Given the description of an element on the screen output the (x, y) to click on. 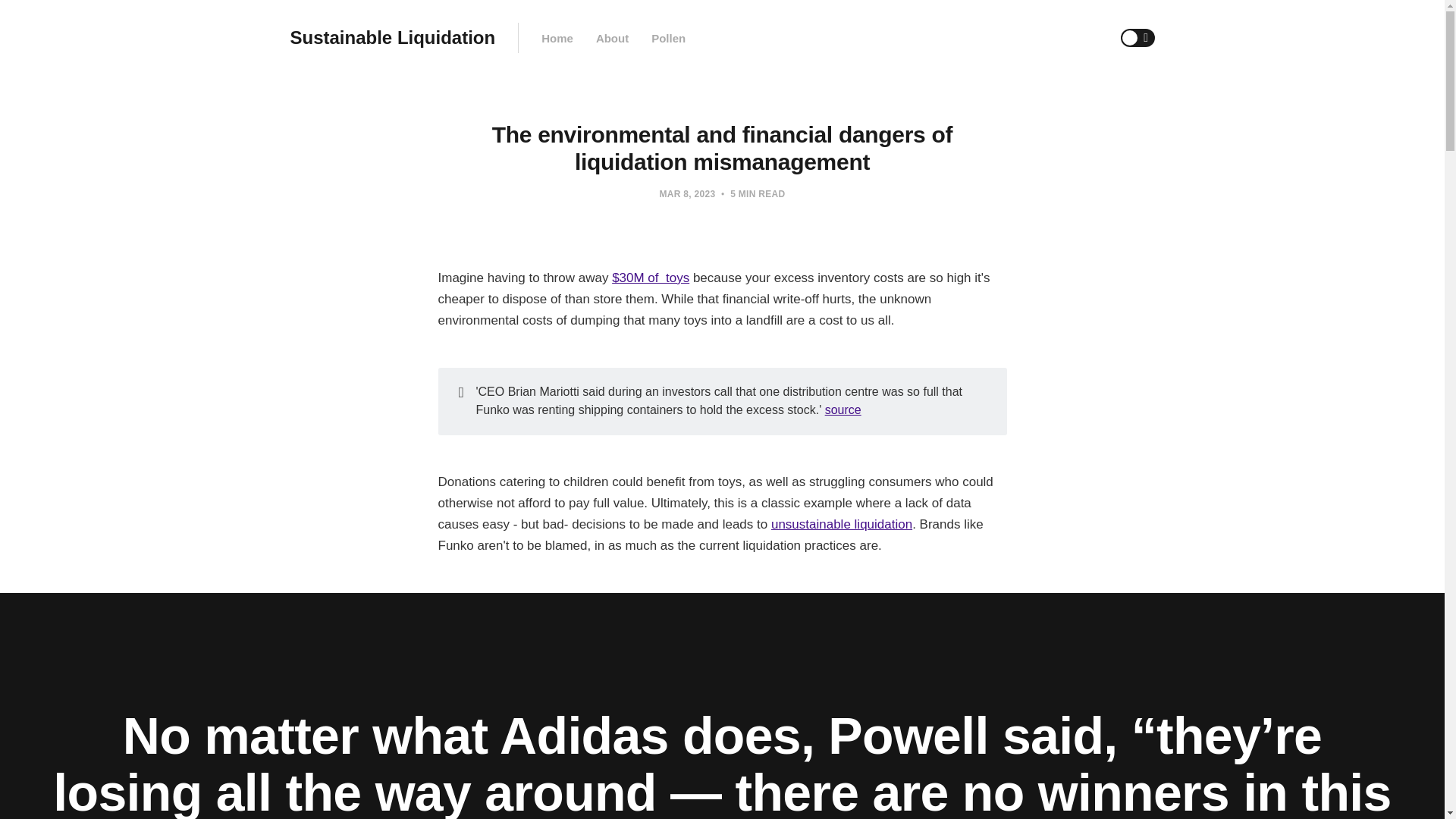
unsustainable liquidation (841, 523)
About (611, 38)
Home (557, 38)
source (843, 409)
Sustainable Liquidation (392, 37)
Pollen (667, 38)
